Given the description of an element on the screen output the (x, y) to click on. 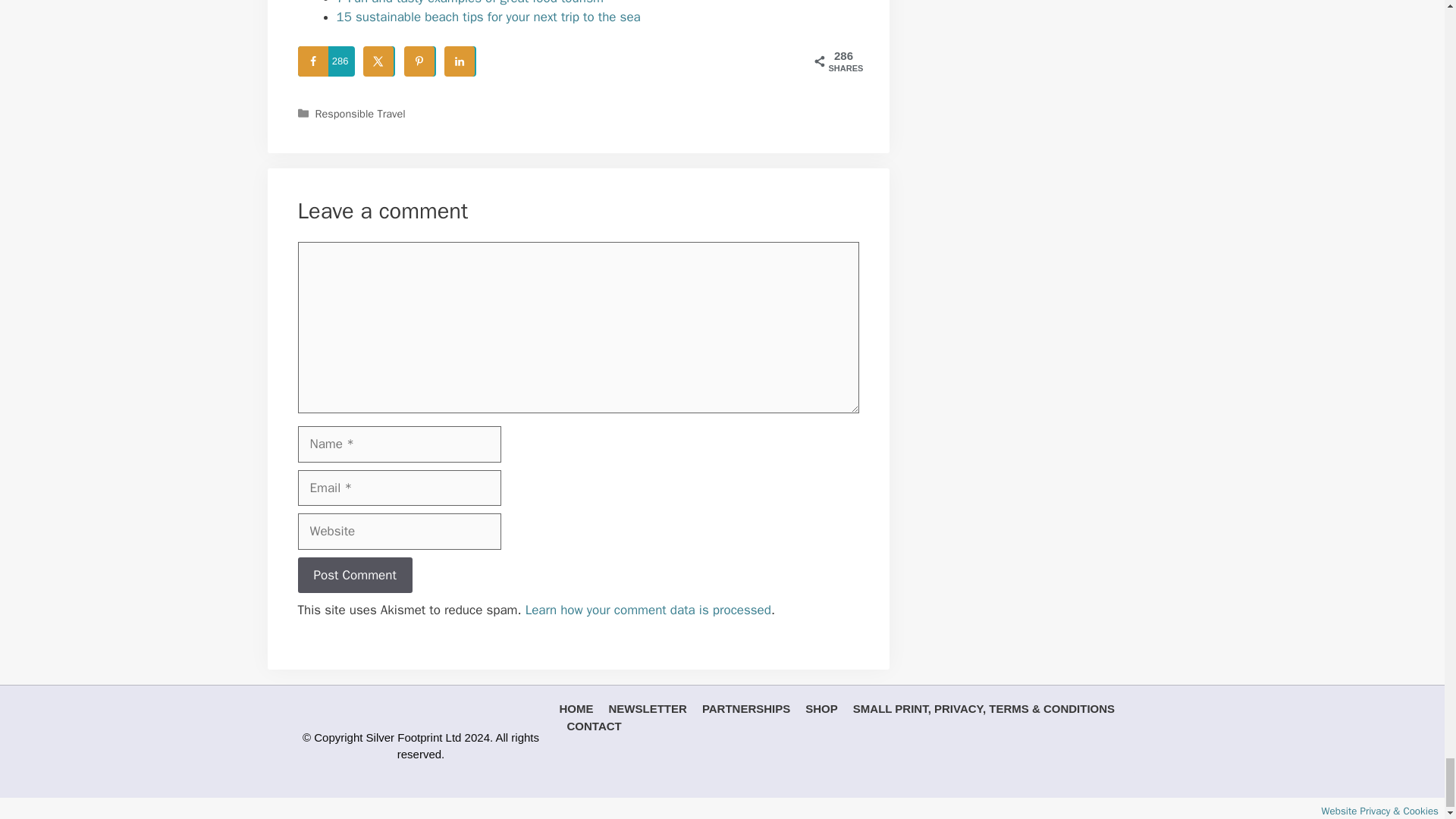
Post Comment (354, 575)
